Given the description of an element on the screen output the (x, y) to click on. 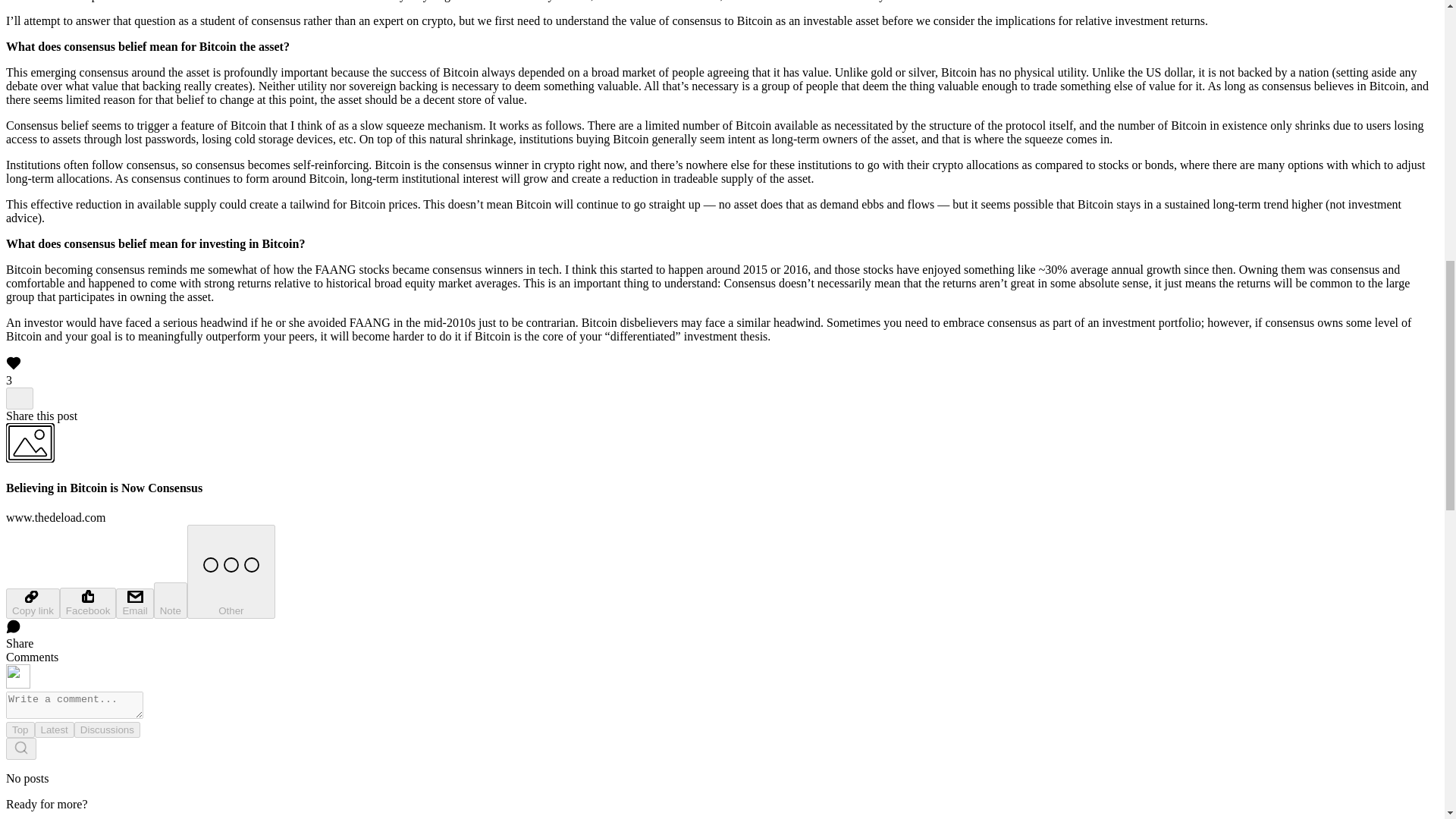
Latest (54, 729)
Facebook (87, 603)
Discussions (106, 729)
Copy link (32, 603)
Email (134, 603)
Top (19, 729)
Other (231, 571)
Note (170, 600)
